Given the description of an element on the screen output the (x, y) to click on. 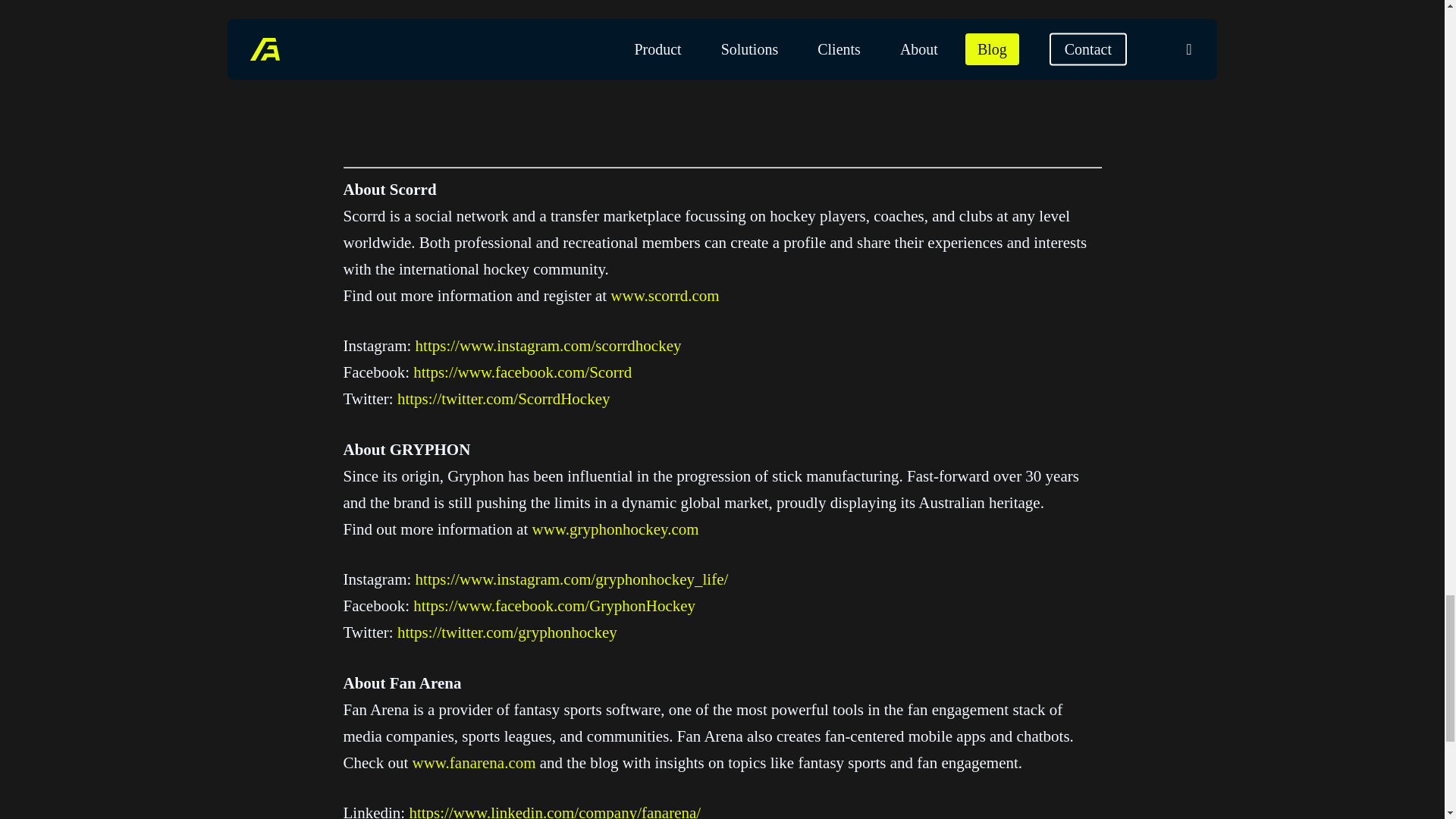
www.gryphonhockey.com (615, 529)
www.fanarena.com (473, 762)
www.scorrd.com (664, 295)
